Given the description of an element on the screen output the (x, y) to click on. 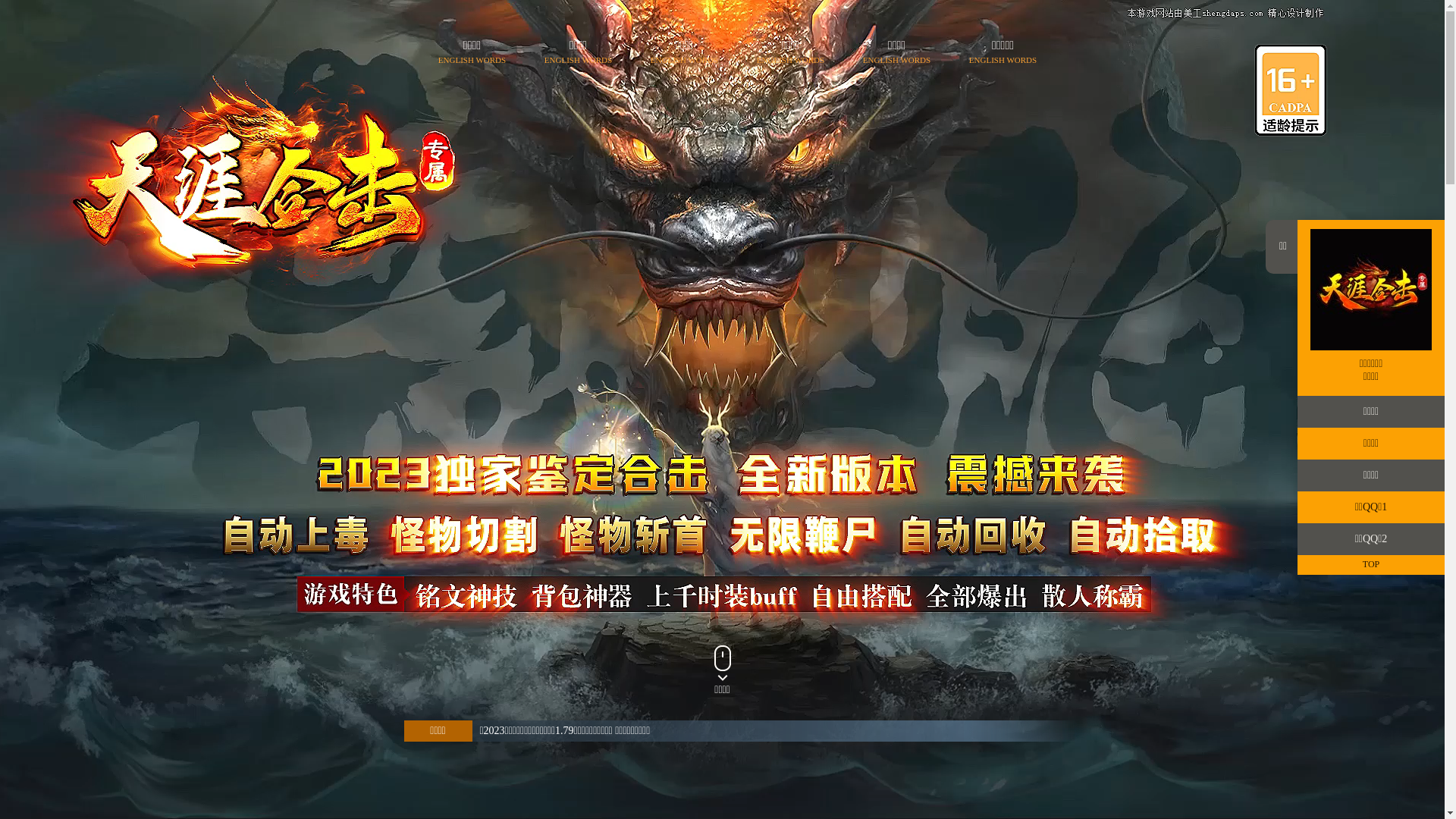
TOP Element type: text (1370, 564)
